Given the description of an element on the screen output the (x, y) to click on. 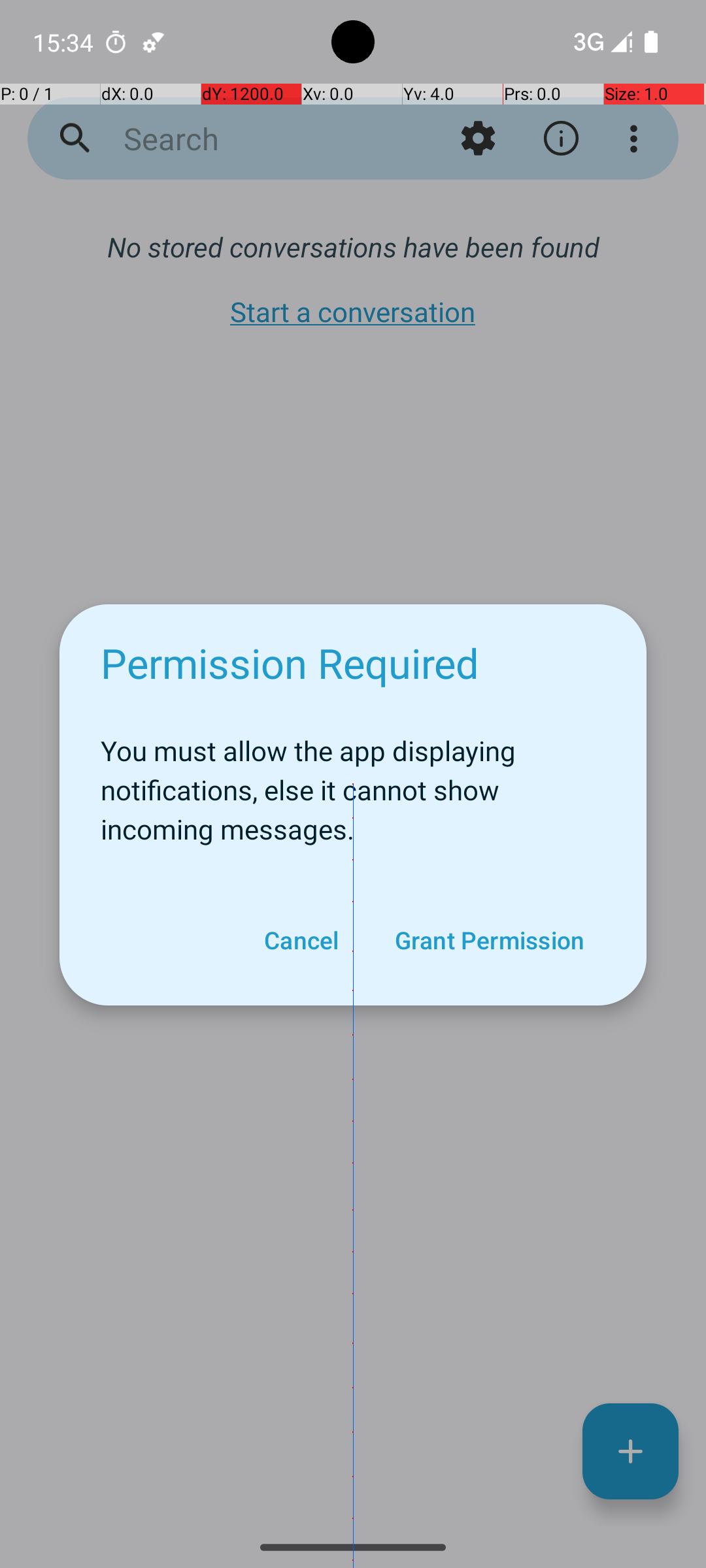
Permission Required Element type: android.widget.TextView (289, 662)
You must allow the app displaying notifications, else it cannot show incoming messages. Element type: android.widget.TextView (352, 782)
Grant Permission Element type: android.widget.Button (489, 939)
